Given the description of an element on the screen output the (x, y) to click on. 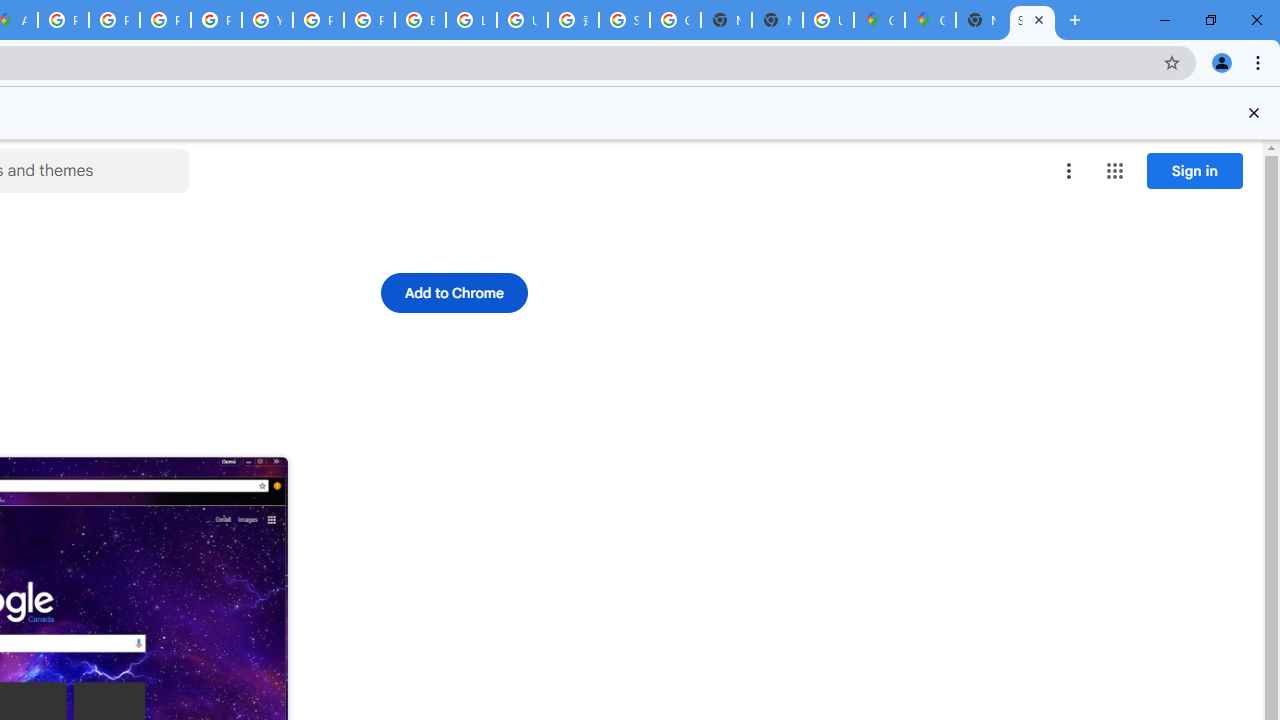
New Tab (776, 20)
More options menu (1069, 170)
Space Nebula - Chrome Web Store (1032, 20)
Add to Chrome (453, 292)
Google Maps (878, 20)
Sign in - Google Accounts (624, 20)
Google Maps (930, 20)
Browse Chrome as a guest - Computer - Google Chrome Help (420, 20)
YouTube (267, 20)
